Given the description of an element on the screen output the (x, y) to click on. 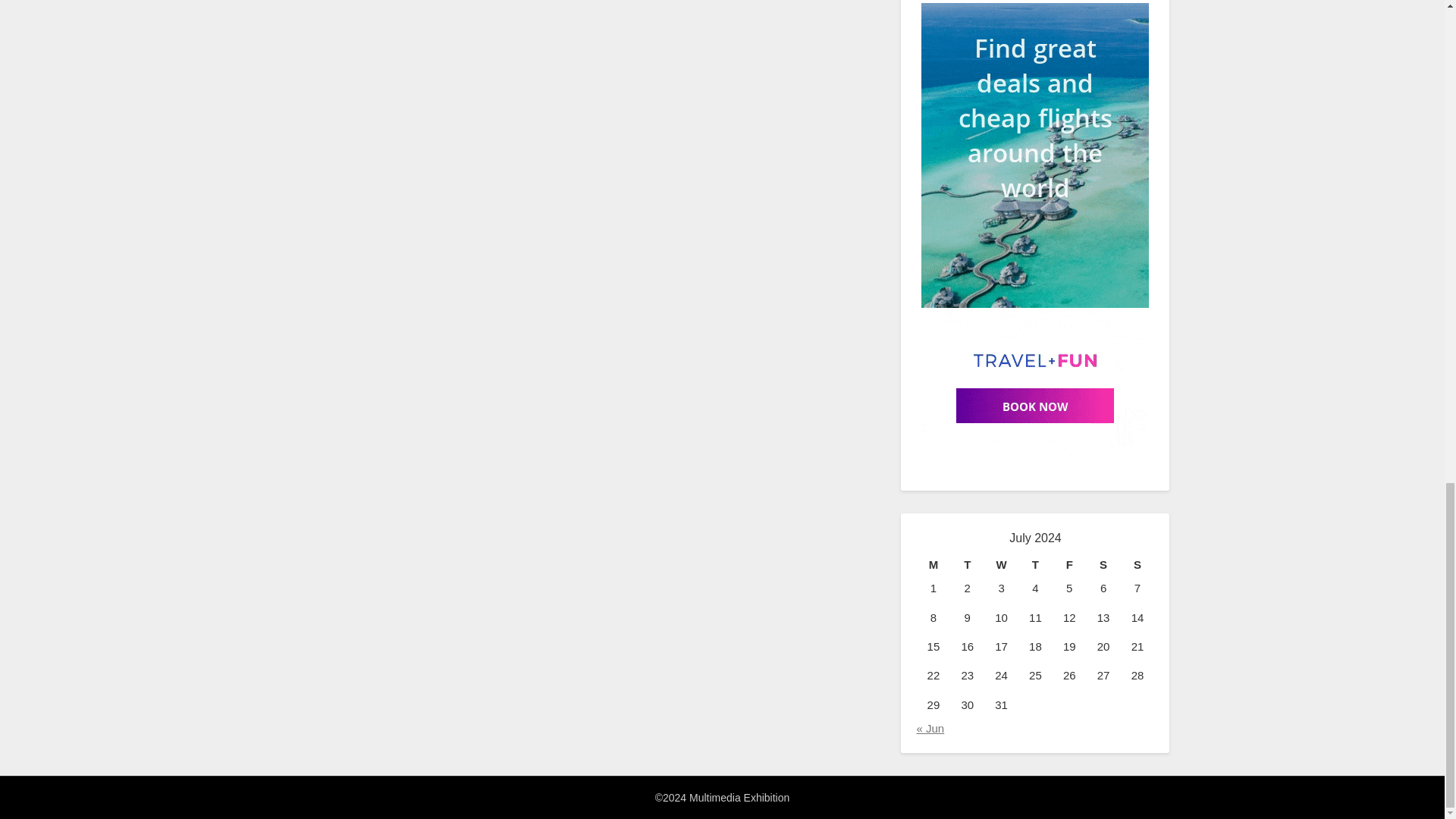
Saturday (1103, 565)
Thursday (1034, 565)
Friday (1069, 565)
Monday (932, 565)
Sunday (1137, 565)
Tuesday (967, 565)
Wednesday (1000, 565)
